Given the description of an element on the screen output the (x, y) to click on. 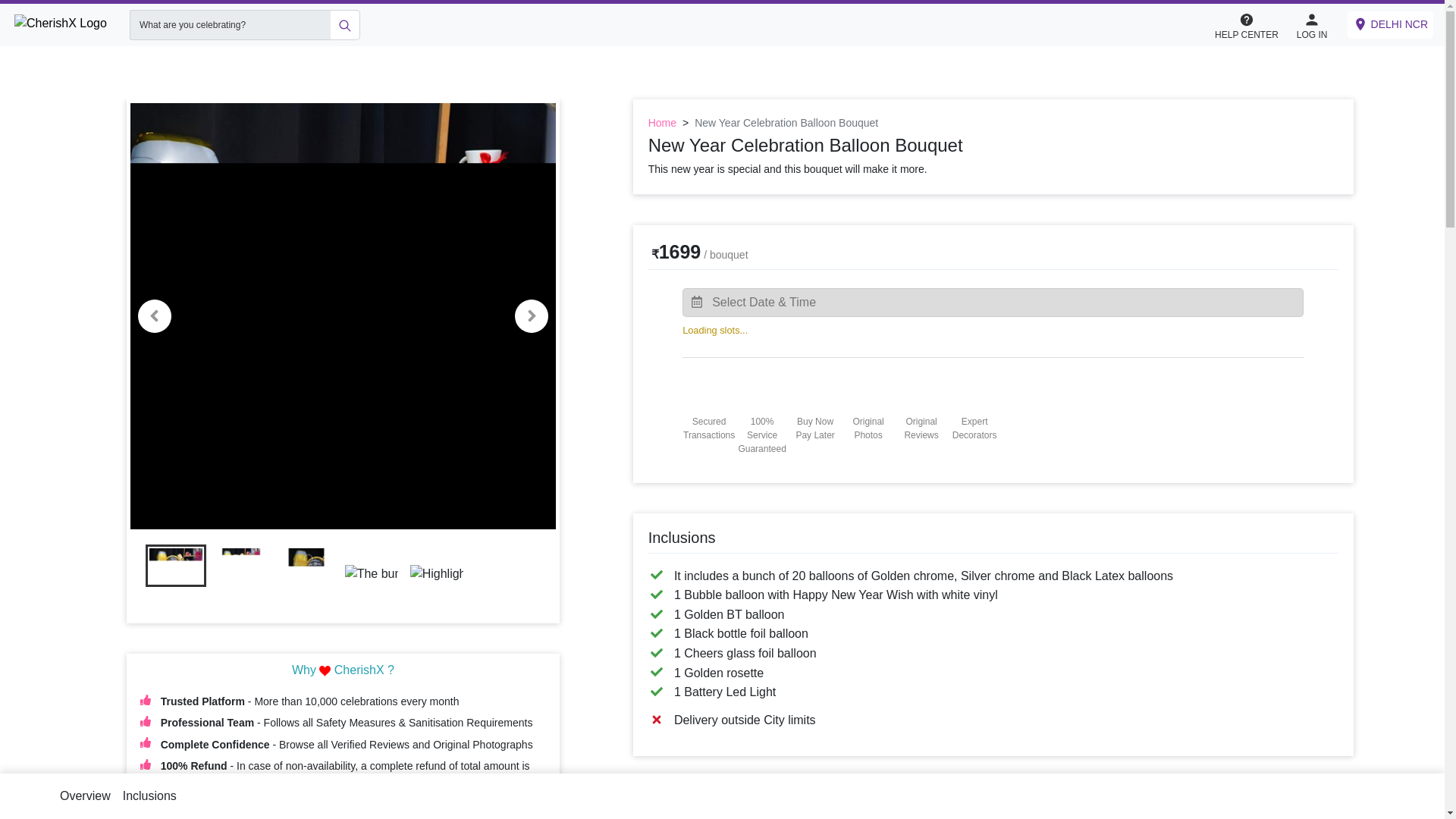
HELP CENTER (1253, 25)
What are you celebrating? (229, 24)
Home (662, 122)
HELP CENTER (1245, 24)
LOG IN (1312, 24)
What are you celebrating? (229, 24)
DELHI NCR (1390, 24)
